Given the description of an element on the screen output the (x, y) to click on. 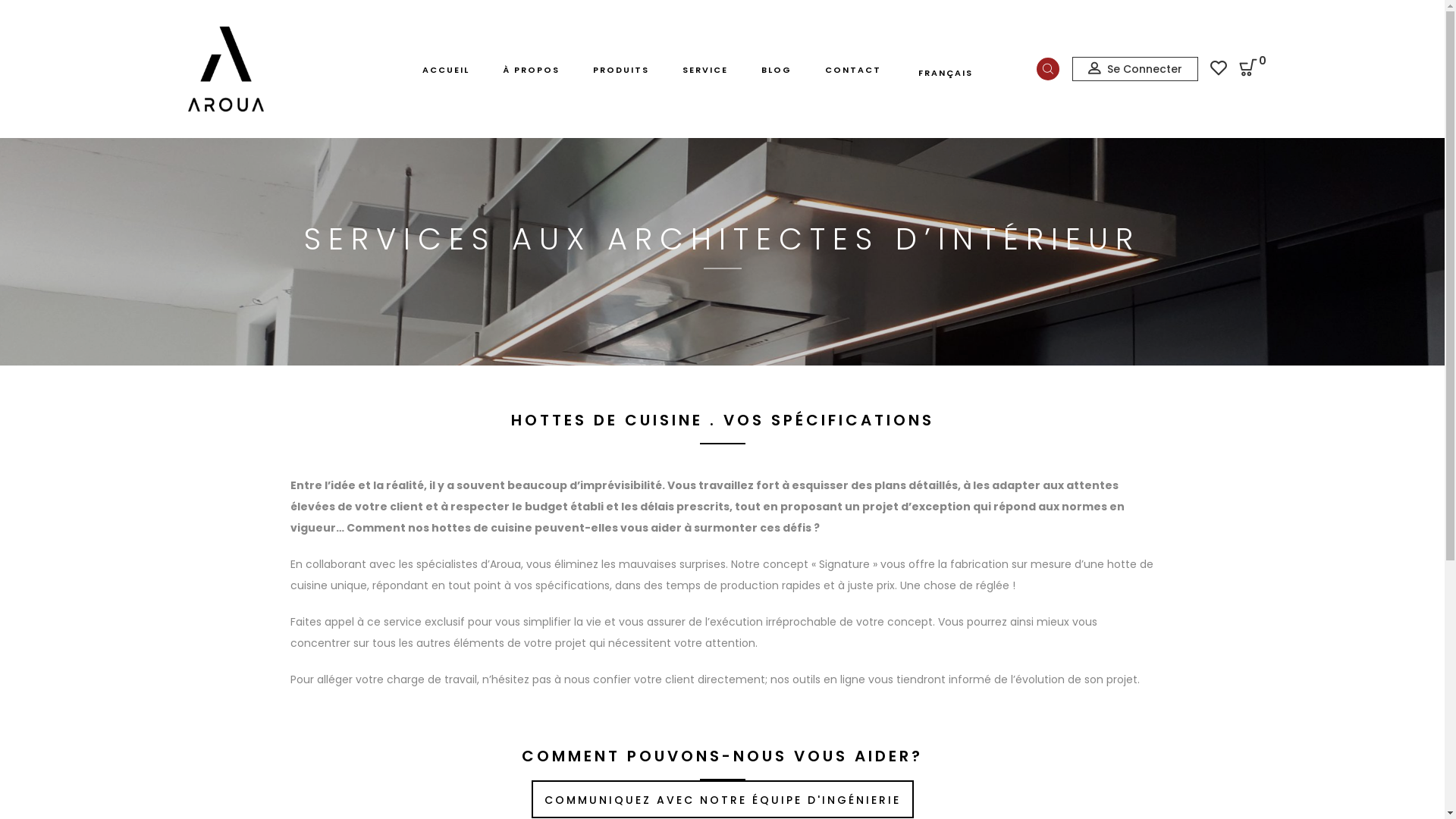
BLOG Element type: text (776, 69)
PRODUITS Element type: text (621, 69)
CONTACT Element type: text (853, 69)
Se Connecter Element type: text (1135, 68)
SERVICE Element type: text (705, 69)
ACCUEIL Element type: text (444, 69)
